Given the description of an element on the screen output the (x, y) to click on. 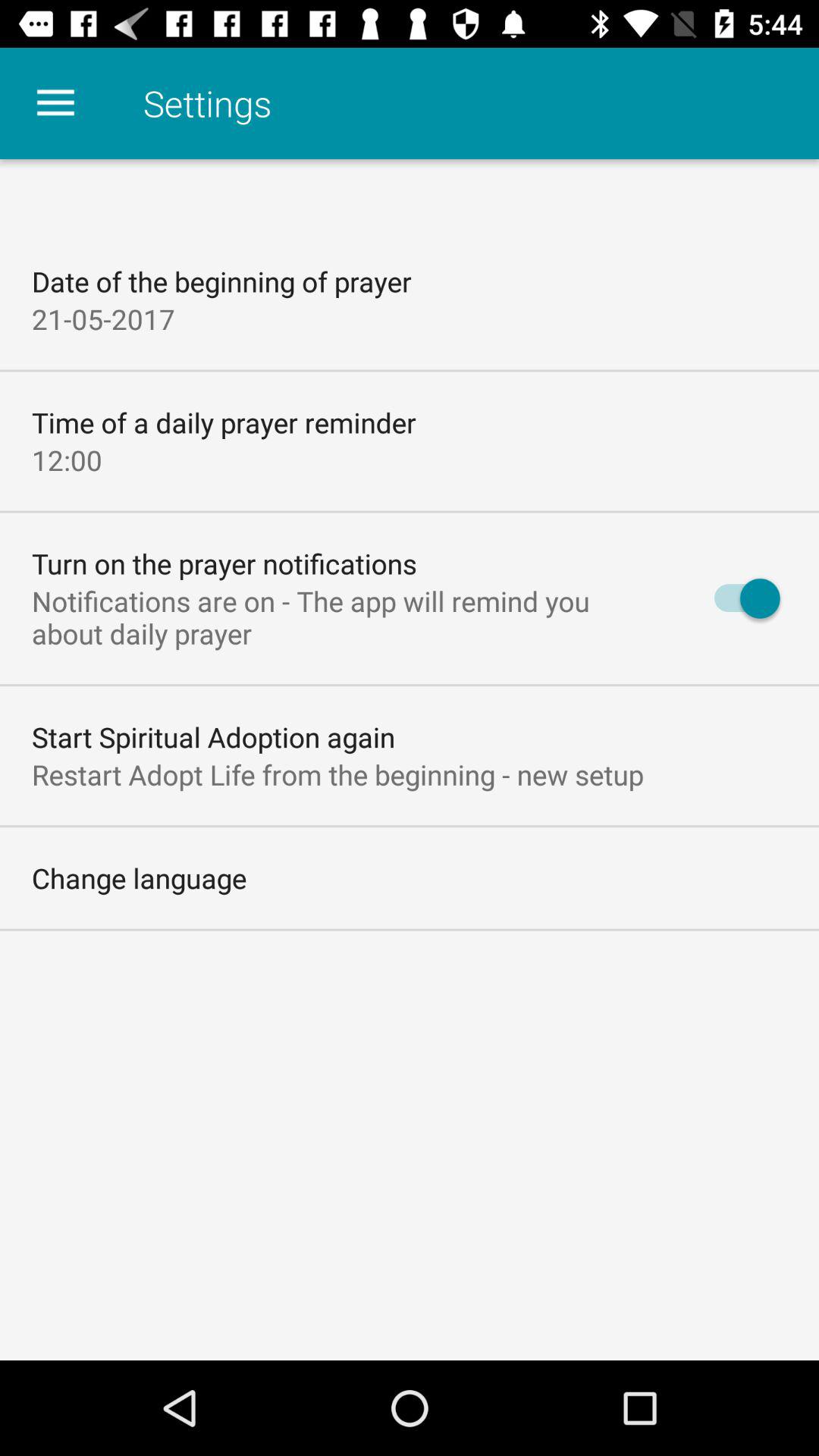
open icon on the right (739, 598)
